Given the description of an element on the screen output the (x, y) to click on. 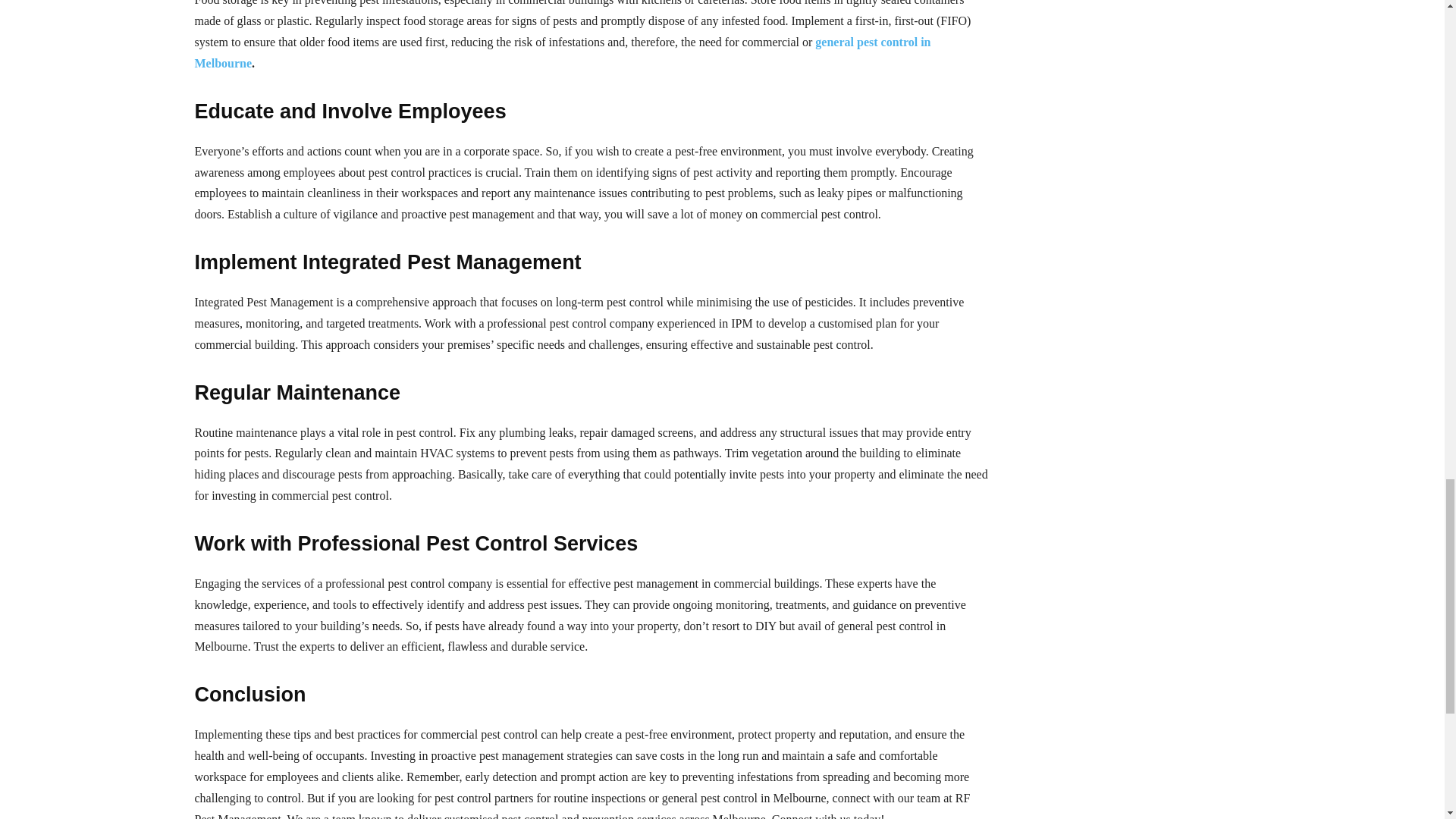
general pest control in Melbourne (561, 52)
